Given the description of an element on the screen output the (x, y) to click on. 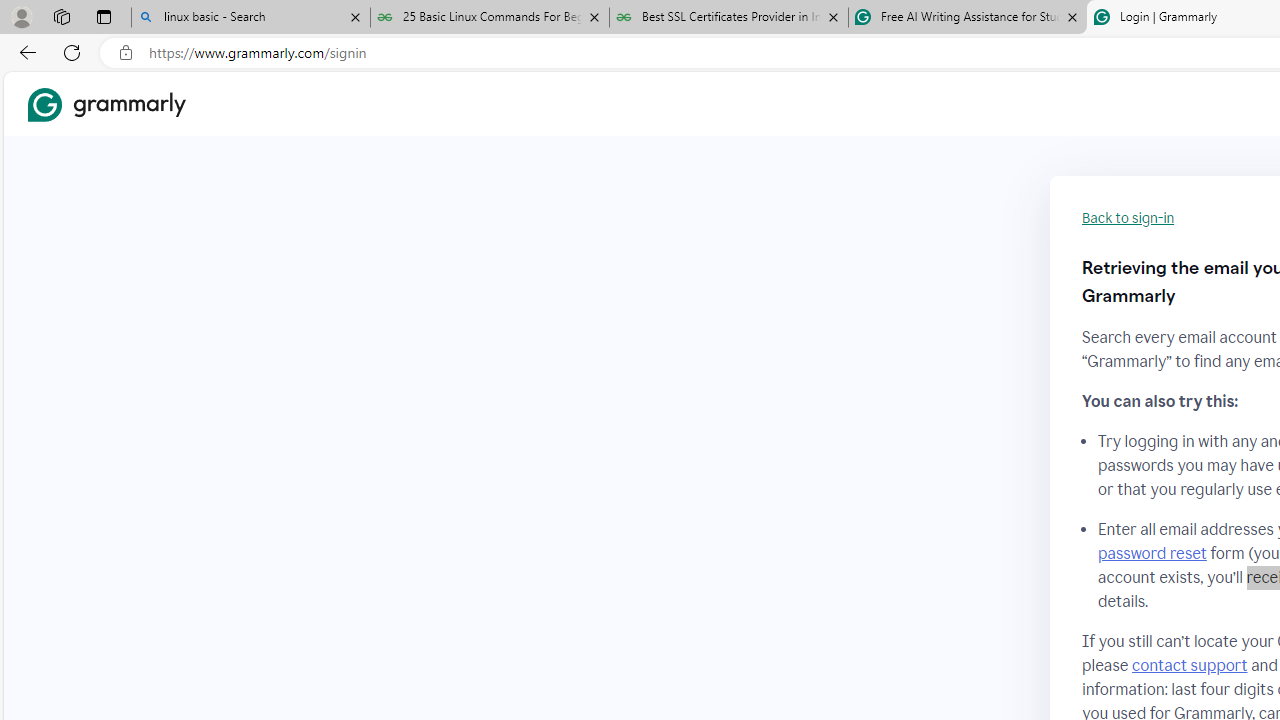
Grammarly Home (106, 104)
